Given the description of an element on the screen output the (x, y) to click on. 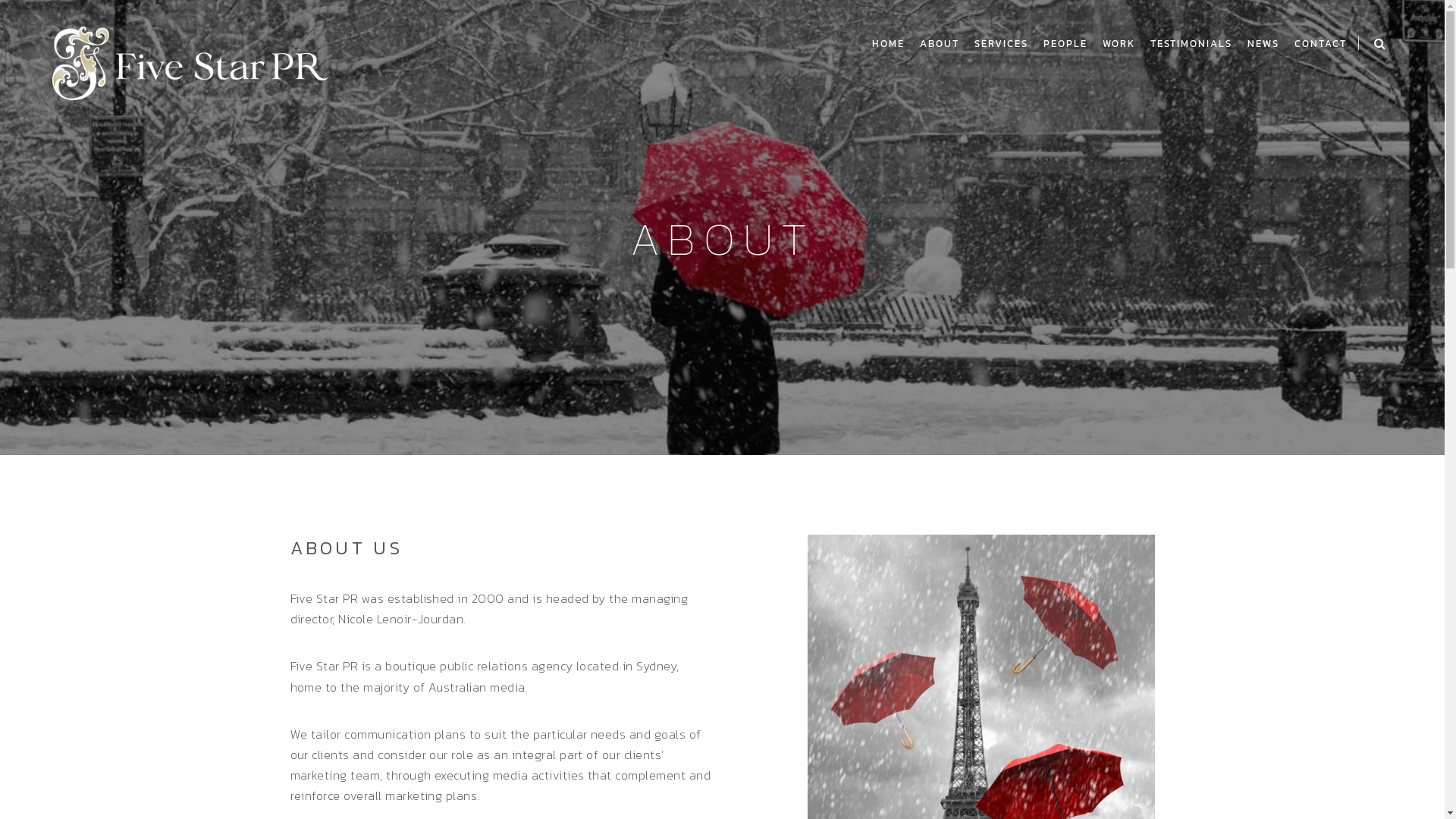
Five Star PR Element type: hover (189, 60)
CONTACT Element type: text (1320, 43)
WORK Element type: text (1118, 43)
NEWS Element type: text (1262, 43)
ABOUT Element type: text (939, 43)
SERVICES Element type: text (1000, 43)
PEOPLE Element type: text (1065, 43)
TESTIMONIALS Element type: text (1190, 43)
HOME Element type: text (888, 43)
